Given the description of an element on the screen output the (x, y) to click on. 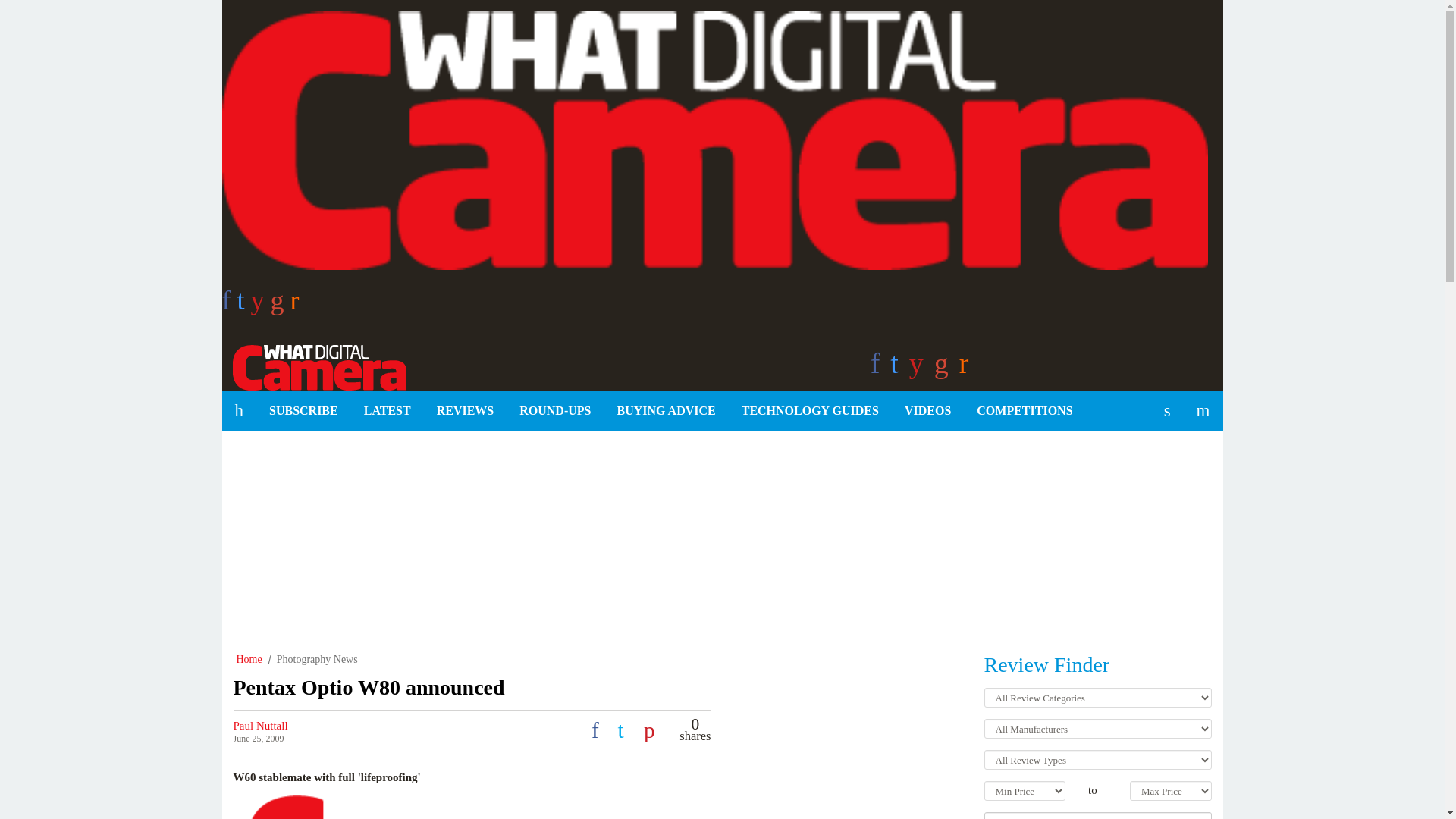
SUBSCRIBE (303, 410)
t (242, 305)
BUYING ADVICE (666, 410)
What Digital Camera (313, 365)
y (260, 305)
What Digital Camera (313, 365)
LATEST (386, 410)
f (228, 305)
Paul Nuttall's Profile (260, 725)
ROUND-UPS (555, 410)
